Given the description of an element on the screen output the (x, y) to click on. 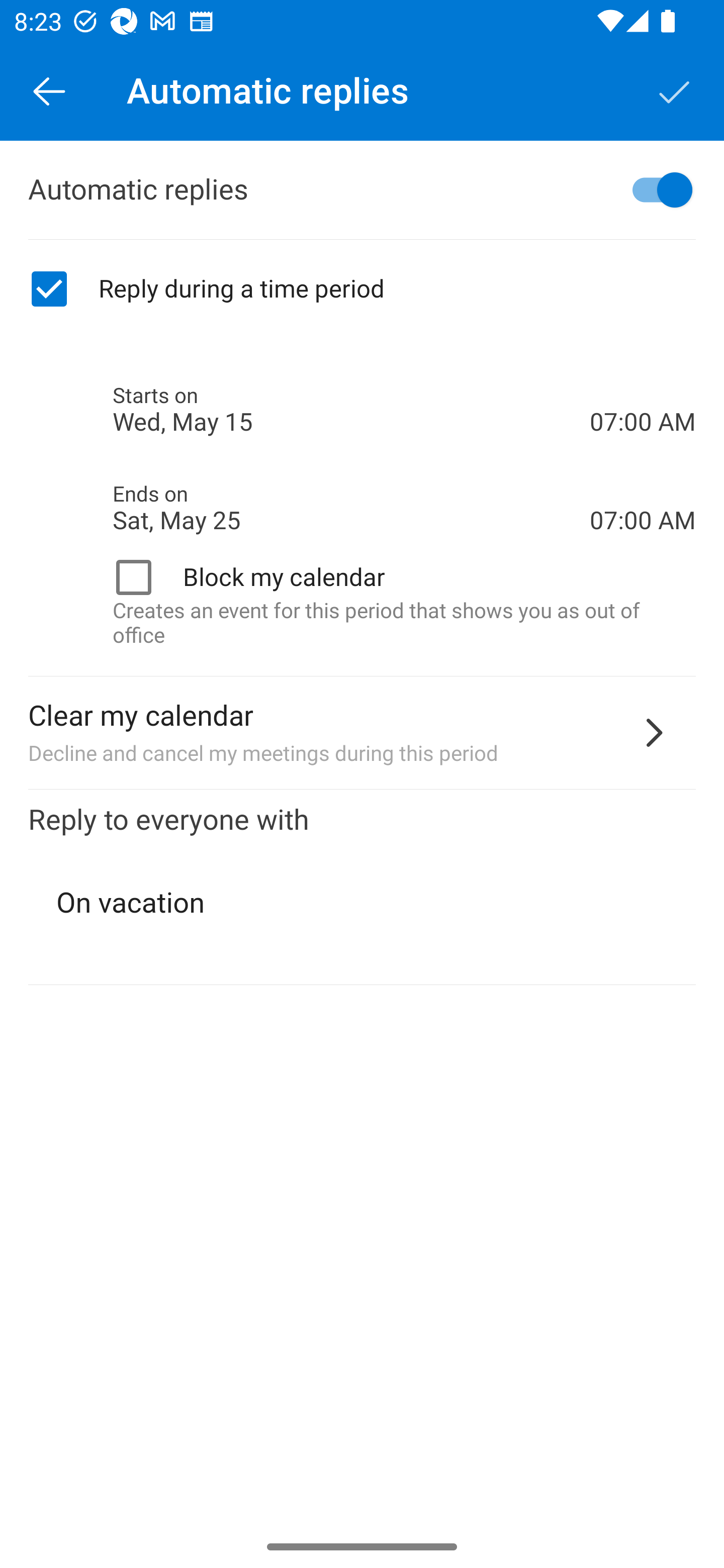
Back (49, 90)
Save (674, 90)
Automatic replies (362, 190)
Reply during a time period (362, 288)
07:00 AM (642, 387)
Starts on Wed, May 15 (351, 409)
07:00 AM (642, 485)
Ends on Sat, May 25 (351, 507)
Reply to everyone with Edit box On vacation (361, 887)
On vacation (363, 902)
